Given the description of an element on the screen output the (x, y) to click on. 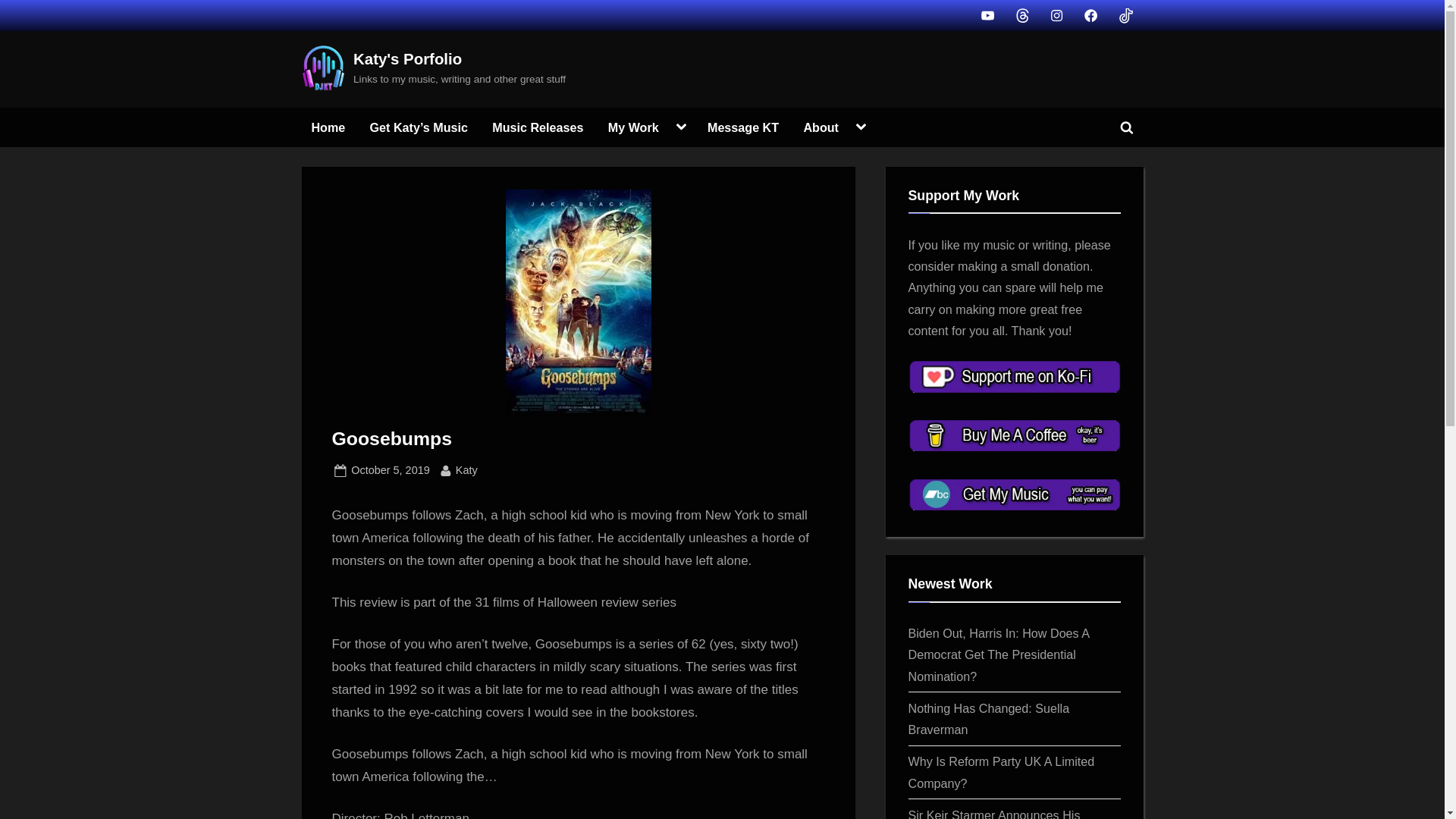
Threads (1021, 14)
Toggle sub-menu (861, 127)
Music Releases (536, 127)
Katy's Porfolio (407, 58)
About (389, 470)
TikTok (820, 127)
Toggle sub-menu (1125, 14)
Facebook (681, 127)
Home (1090, 14)
My Work (328, 127)
Instagram (633, 127)
Message KT (1056, 14)
YouTube (743, 127)
